Given the description of an element on the screen output the (x, y) to click on. 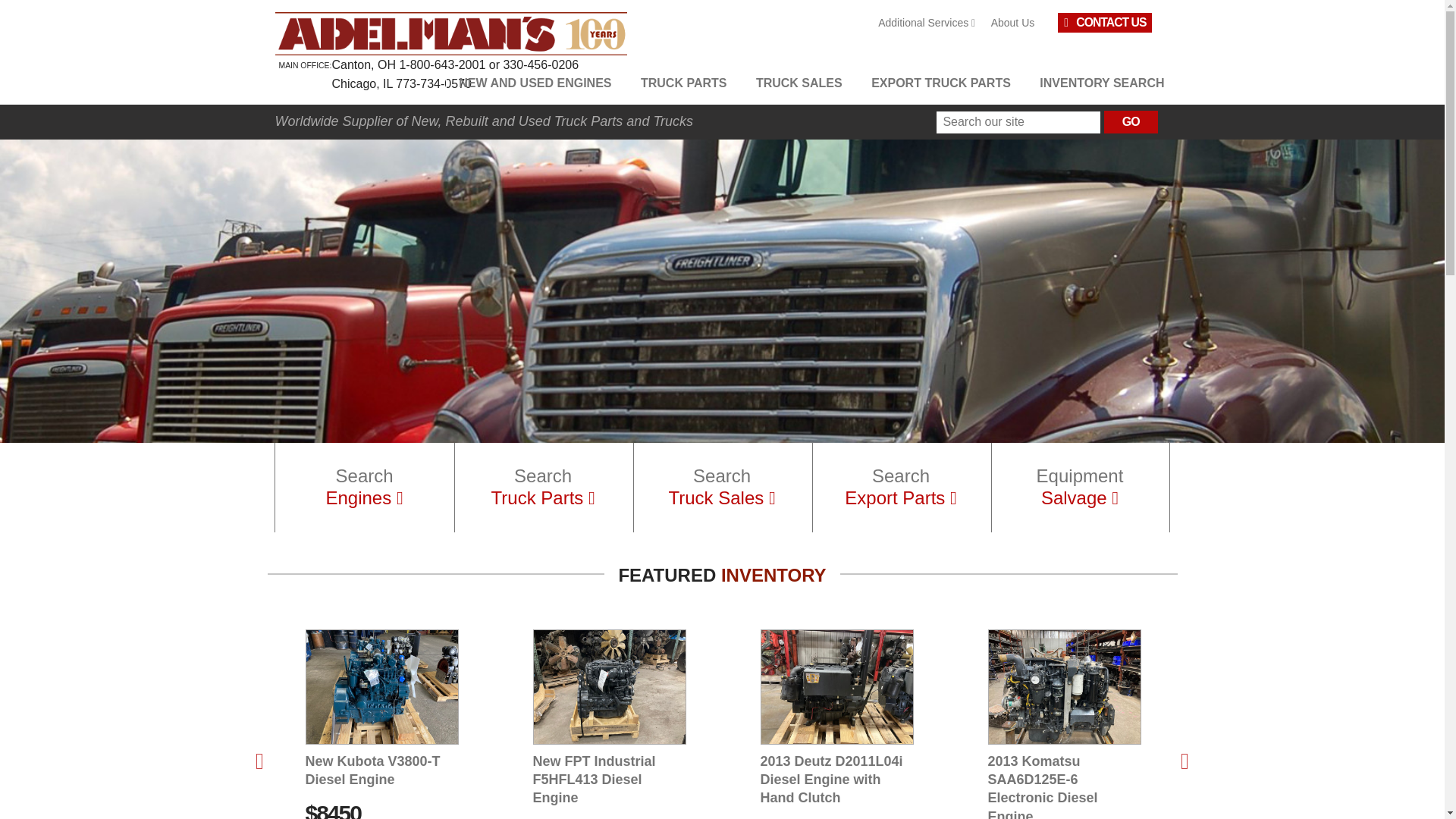
About Us (1013, 22)
CONTACT US (1104, 22)
330-456-0206 (540, 64)
Contact Us (1104, 22)
TRUCK PARTS (683, 82)
1-800-643-2001 (441, 64)
TRUCK SALES (799, 82)
Additional Services (925, 22)
773-734-0570 (433, 83)
NEW AND USED ENGINES (534, 82)
